Given the description of an element on the screen output the (x, y) to click on. 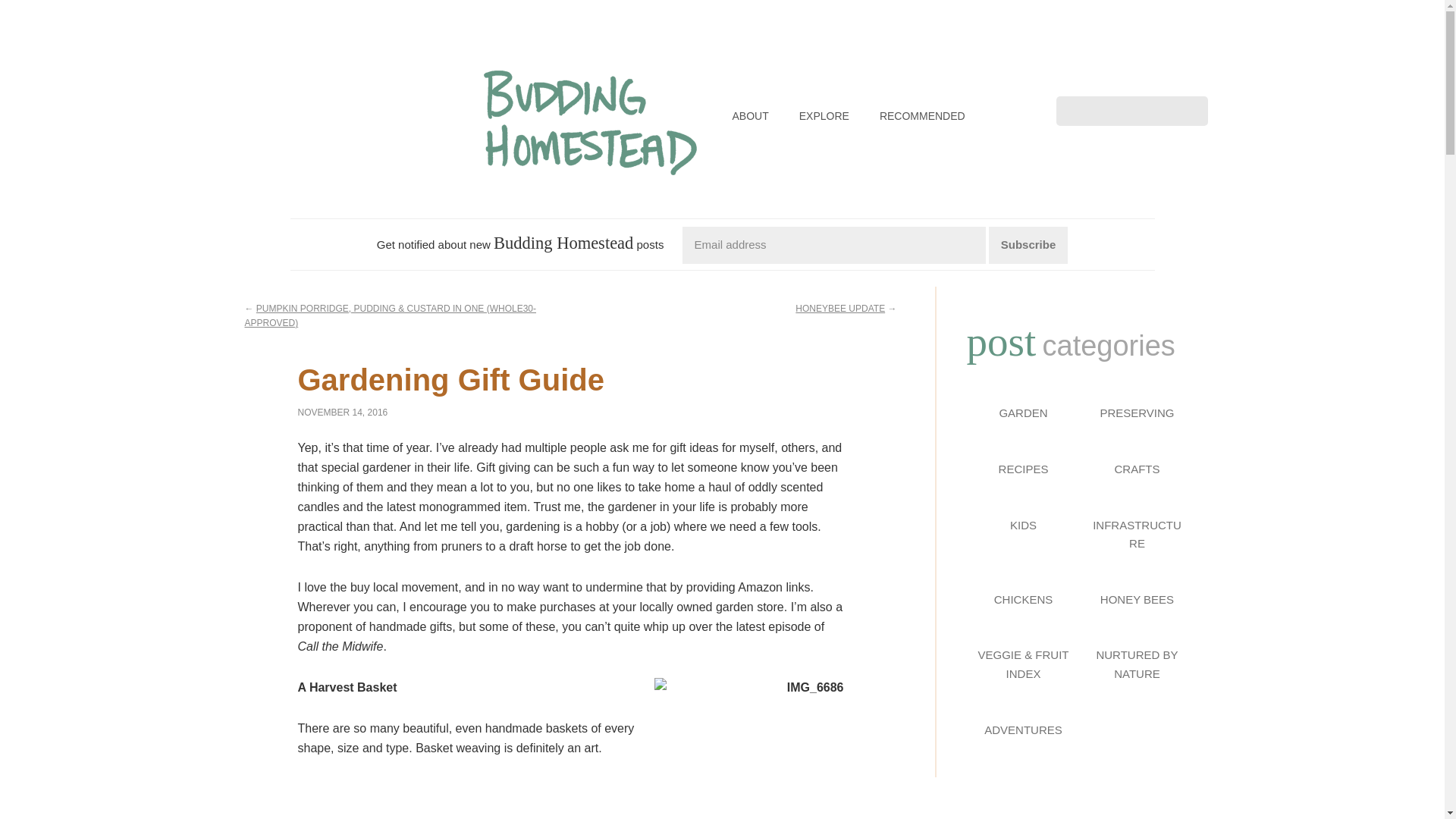
RSS (1184, 77)
EXPLORE (824, 115)
Like Budding Homestead on Facebook (1080, 77)
Facebook (1080, 77)
Subscribe (1028, 244)
RECOMMENDED (921, 115)
Follow Budding Homestead on Twitter (1158, 77)
Follow Budding Homestead on Bloglovin (1132, 77)
ABOUT (750, 115)
Subscribe (1028, 244)
Subscribe to Budding Homestead's RSS feed (1184, 77)
Bloglovin (1132, 77)
